Given the description of an element on the screen output the (x, y) to click on. 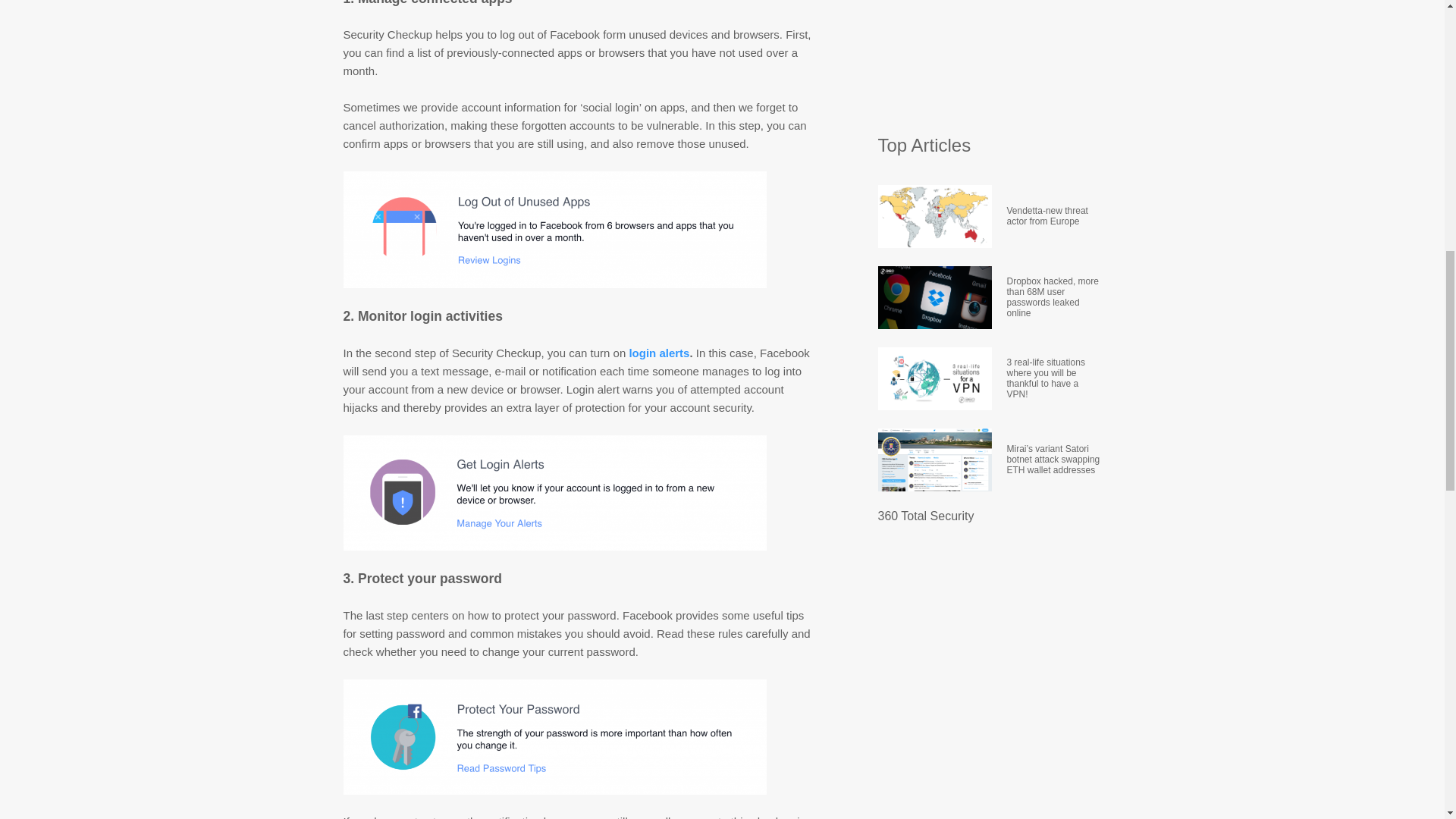
Dropbox hacked, more than 68M user passwords leaked online (1054, 296)
Vendetta-new threat actor from Europe (1054, 216)
Vendetta-new threat actor from Europe (1054, 216)
Advertisement (991, 58)
Dropbox hacked, more than 68M user passwords leaked online (1054, 296)
login alerts (657, 352)
